Given the description of an element on the screen output the (x, y) to click on. 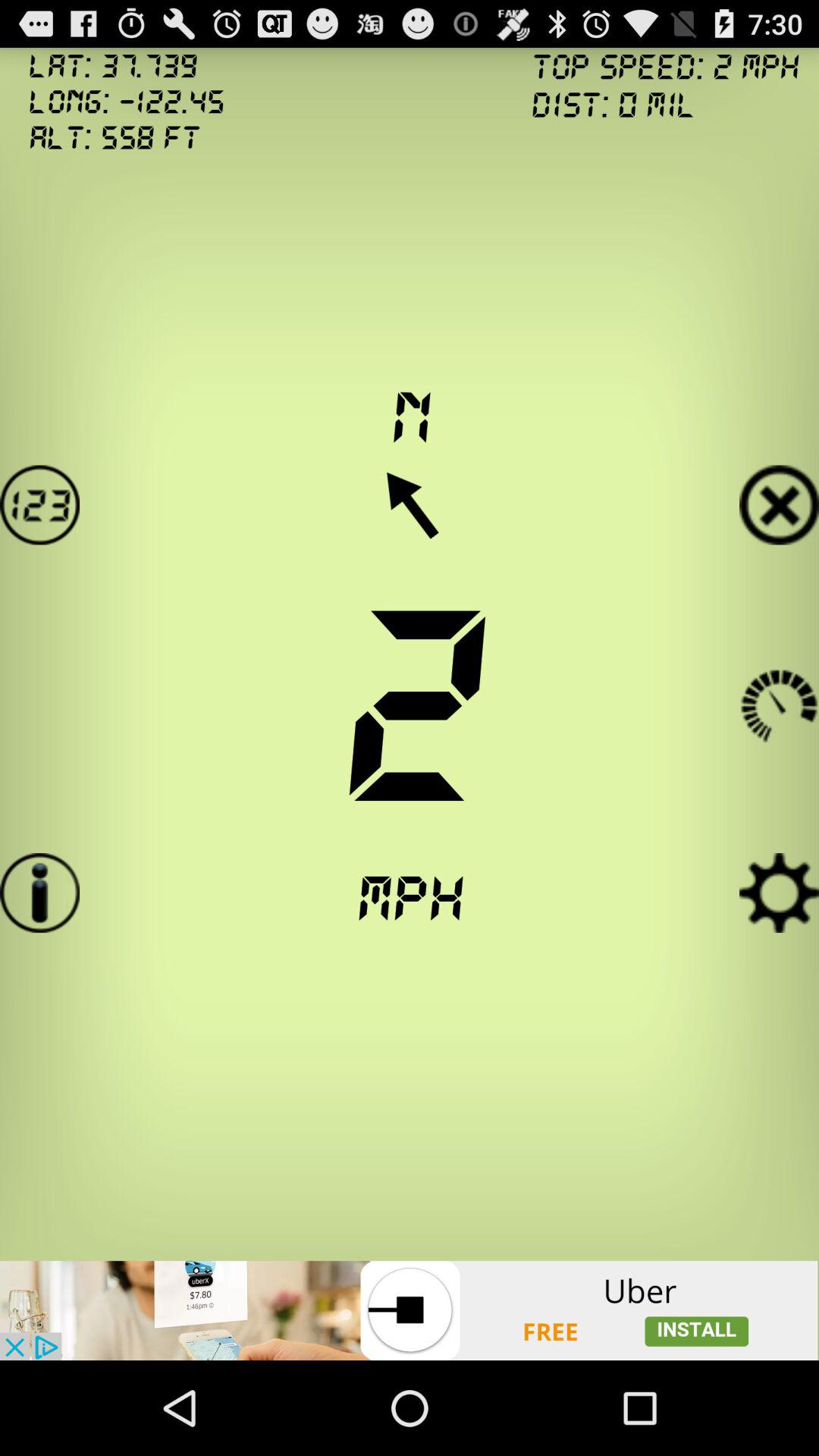
advertisement (409, 1310)
